Given the description of an element on the screen output the (x, y) to click on. 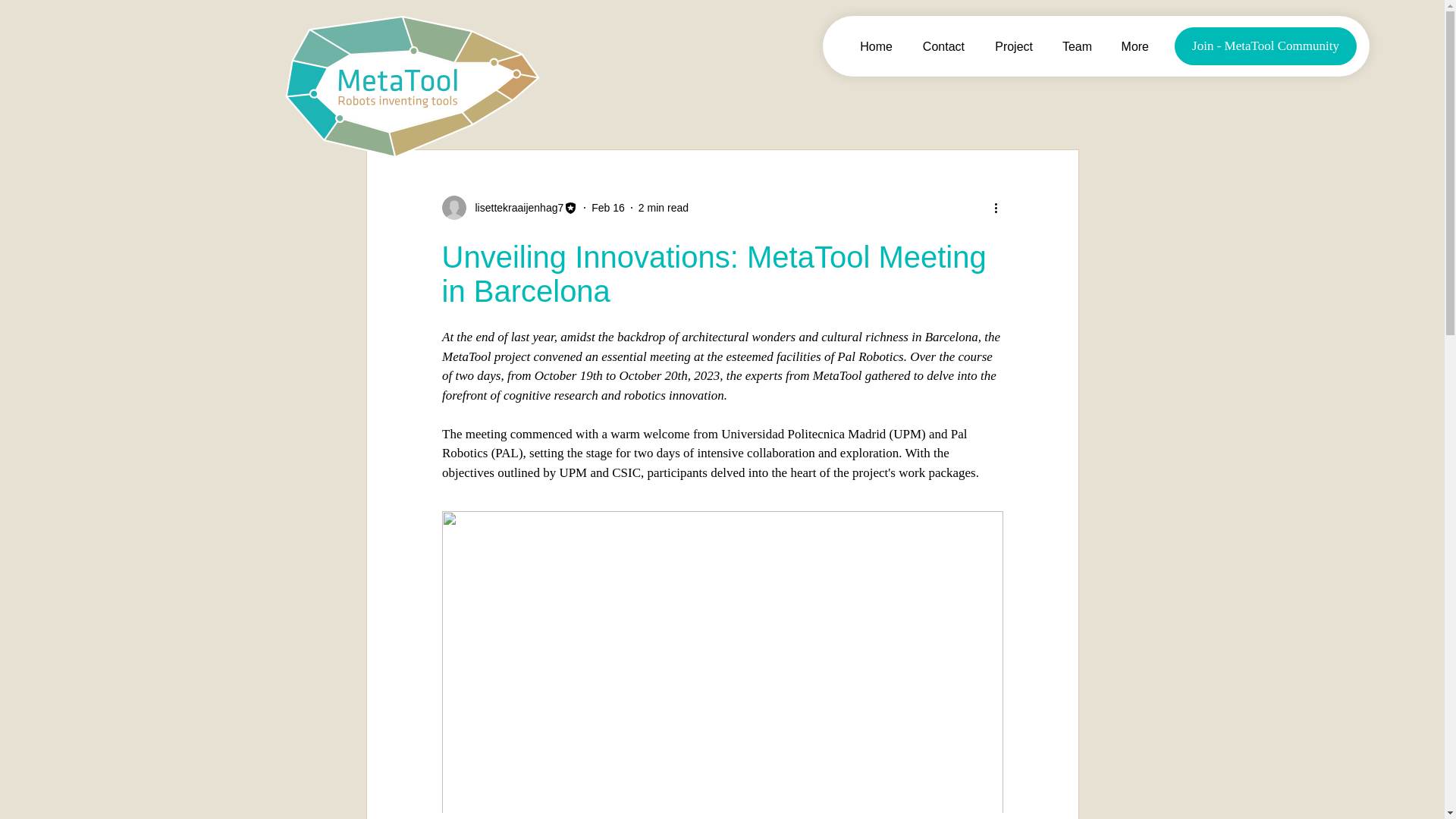
2 min read (663, 207)
Join - MetaTool Community (1265, 46)
Feb 16 (607, 207)
Project (1009, 46)
lisettekraaijenhag7 (514, 207)
Home (872, 46)
lisettekraaijenhag7 (509, 207)
Contact (939, 46)
Team (1073, 46)
